Given the description of an element on the screen output the (x, y) to click on. 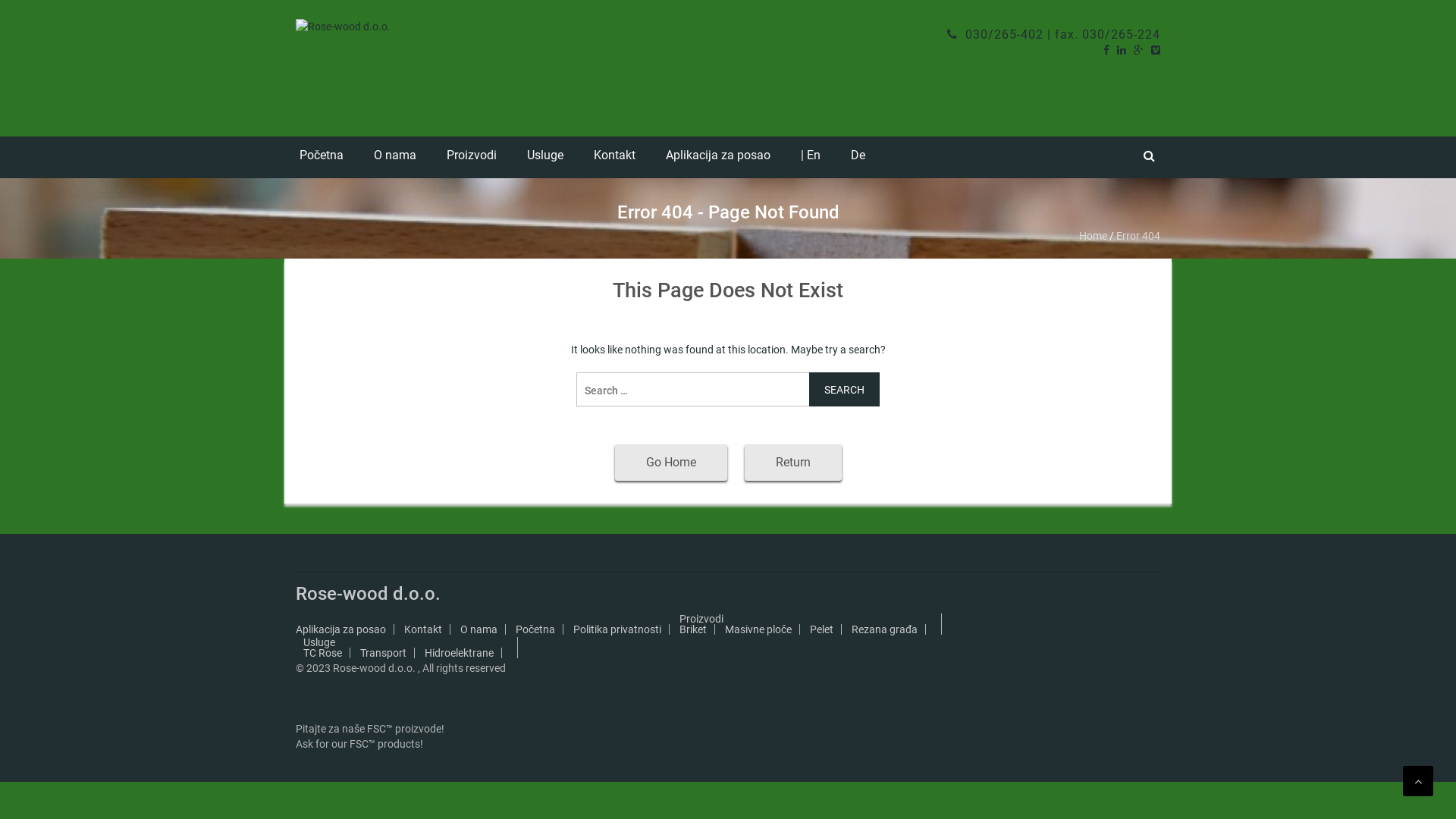
De Element type: text (857, 157)
Kontakt Element type: text (423, 629)
Proizvodi Element type: text (471, 157)
Vimeo Element type: hover (1155, 49)
Facebook Element type: hover (1106, 49)
Rose-wood d.o.o. Element type: text (367, 593)
Linkedin Element type: hover (1121, 49)
O nama Element type: text (478, 629)
O nama Element type: text (394, 157)
Home Element type: text (1093, 235)
| En Element type: text (810, 157)
Pelet Element type: text (821, 629)
030/265-402 | fax. 030/265-224 Element type: text (1053, 34)
Kontakt Element type: text (614, 157)
Transport Element type: text (383, 652)
Proizvodi Element type: text (701, 618)
Briket Element type: text (692, 629)
Aplikacija za posao Element type: text (340, 629)
Hidroelektrane Element type: text (458, 652)
Return Element type: text (792, 462)
Search Element type: text (844, 389)
TC Rose Element type: text (322, 652)
Go Home Element type: text (670, 462)
Aplikacija za posao Element type: text (717, 157)
Politika privatnosti Element type: text (617, 629)
Go to Top Element type: hover (1417, 780)
Usluge Element type: text (319, 642)
Usluge Element type: text (544, 157)
Google Plus Element type: hover (1138, 49)
